Given the description of an element on the screen output the (x, y) to click on. 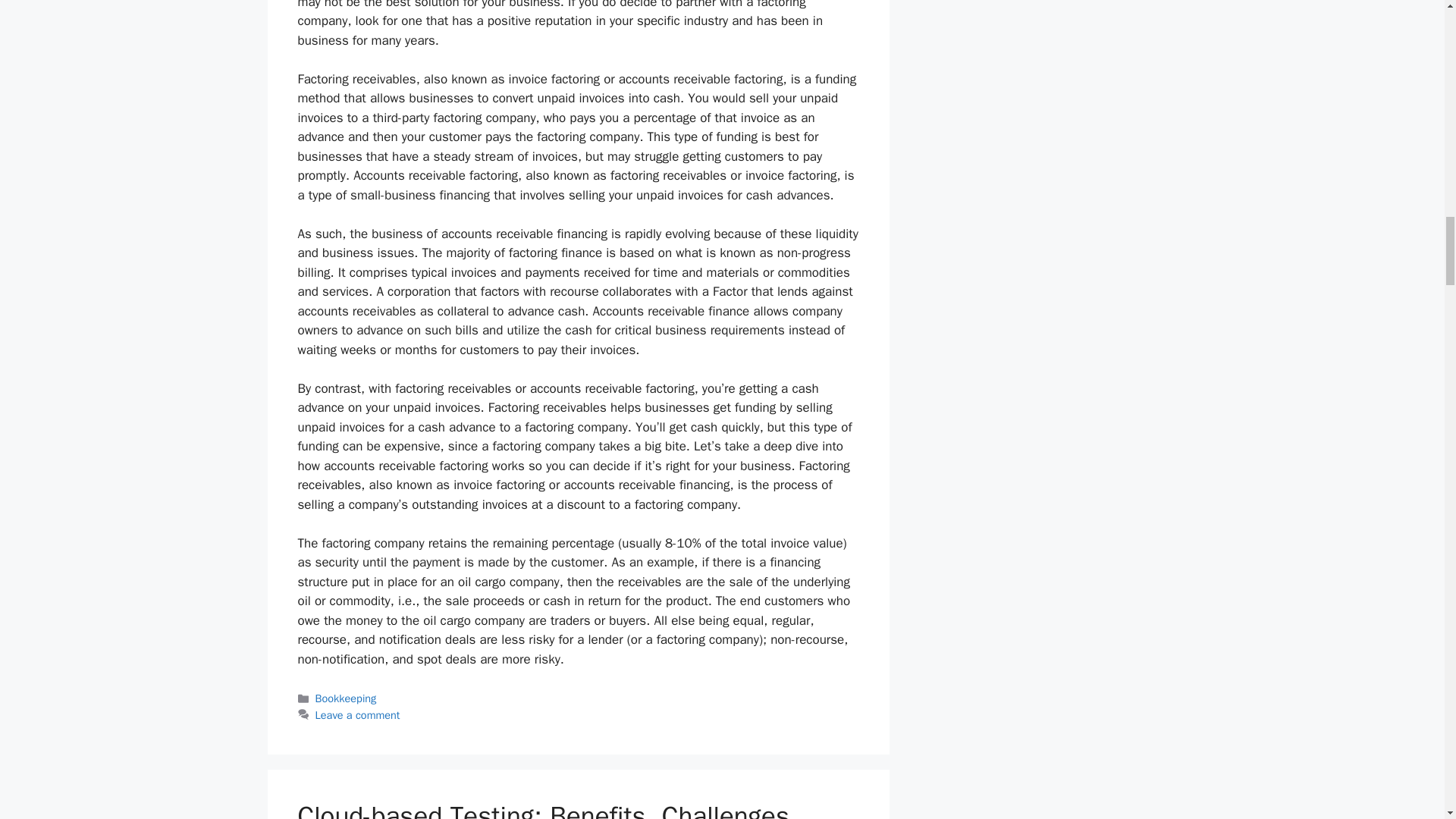
Leave a comment (357, 714)
Bookkeeping (346, 698)
